Given the description of an element on the screen output the (x, y) to click on. 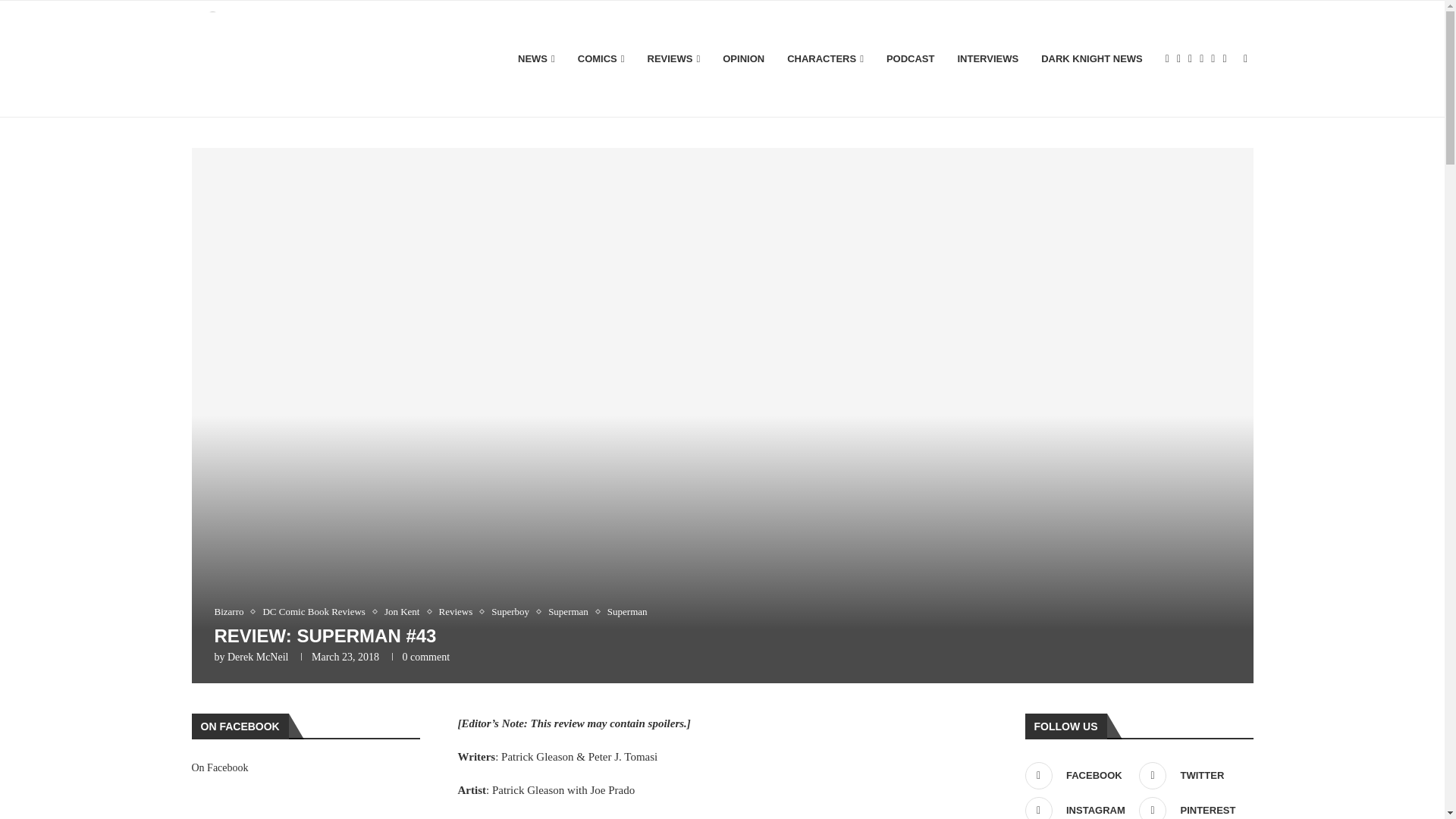
Bizarro (232, 612)
